Given the description of an element on the screen output the (x, y) to click on. 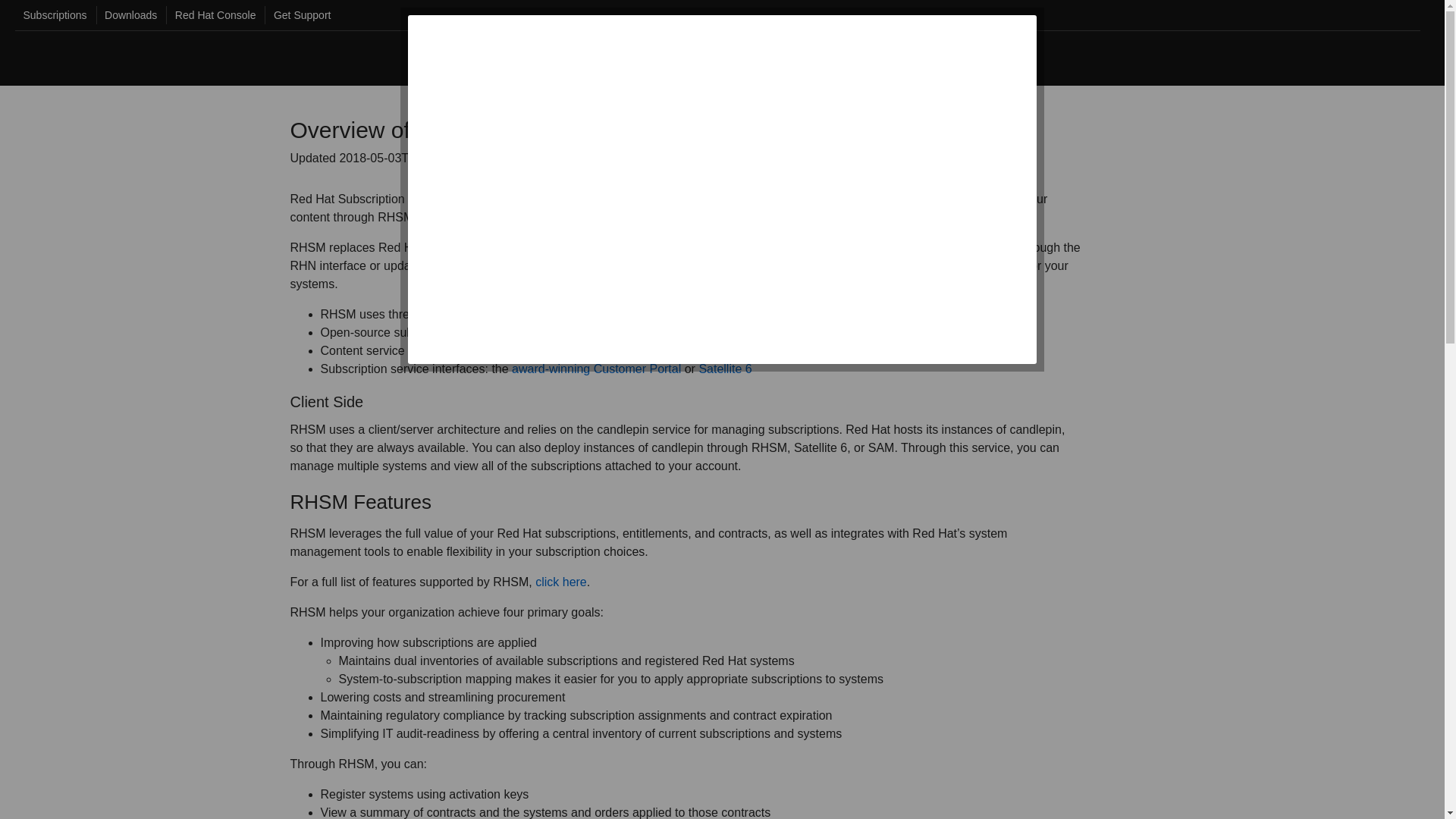
Subscriptions (50, 14)
Downloads (126, 14)
Red Hat Console (210, 14)
Get Support (297, 14)
